Given the description of an element on the screen output the (x, y) to click on. 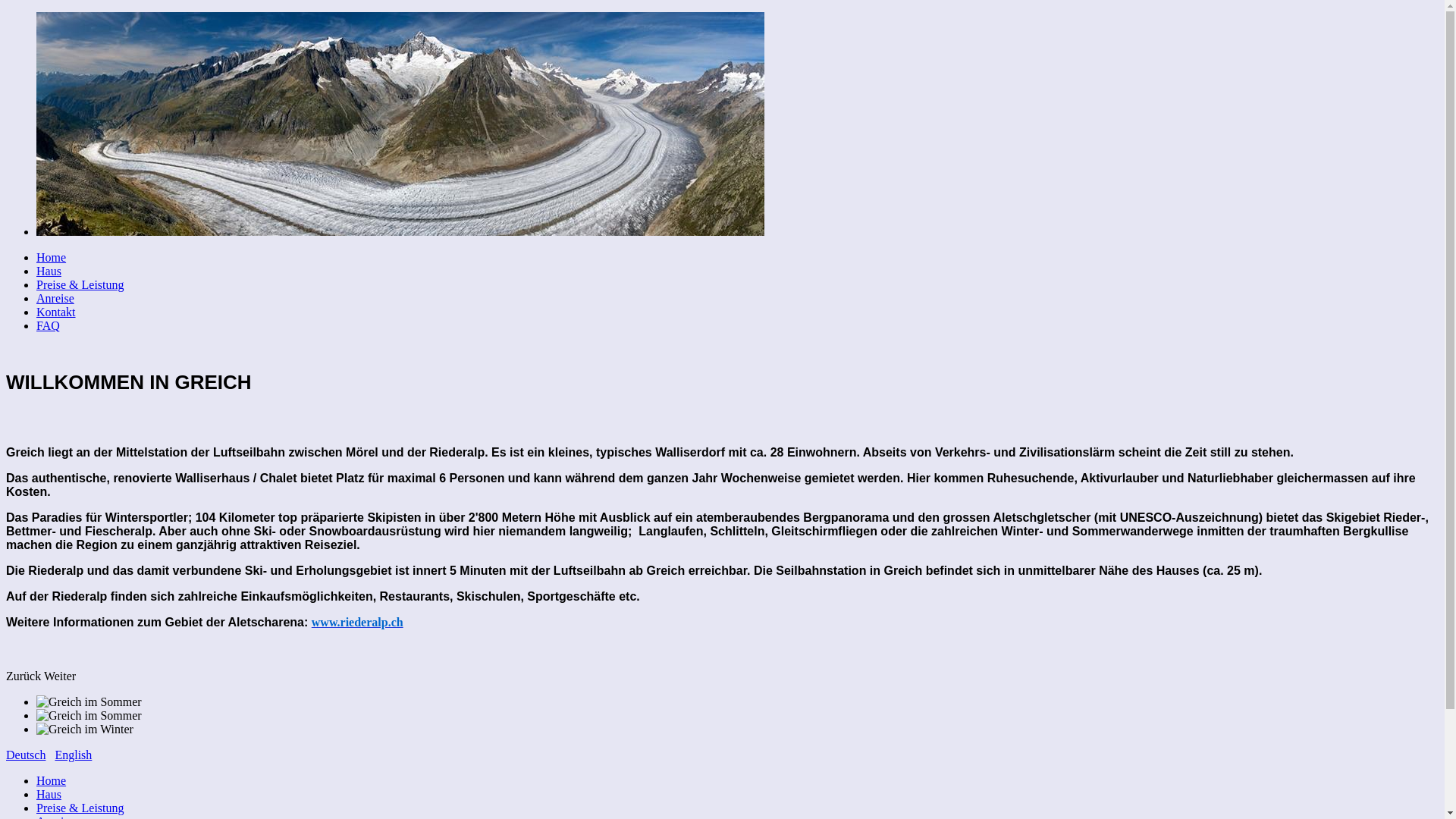
Preise & Leistung Element type: text (80, 807)
Haus Element type: text (48, 793)
Kontakt Element type: text (55, 311)
Deutsch Element type: text (25, 754)
FAQ Element type: text (47, 325)
Anreise Element type: text (55, 297)
Preise & Leistung Element type: text (80, 284)
English Element type: text (72, 754)
Home Element type: text (50, 257)
Home Element type: text (50, 780)
Haus Element type: text (48, 270)
www.riederalp.ch Element type: text (357, 621)
